Given the description of an element on the screen output the (x, y) to click on. 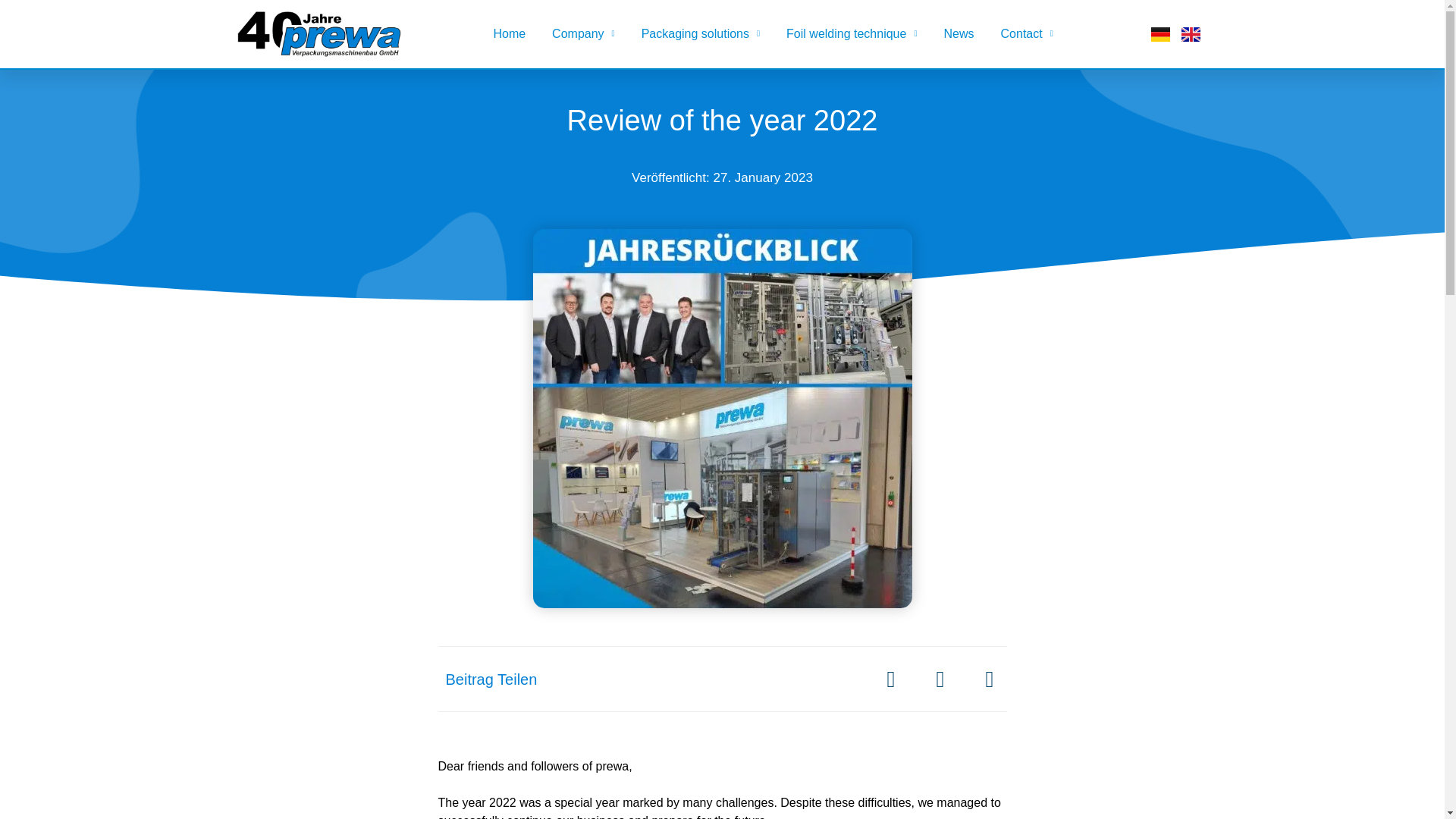
Foil welding technique (851, 33)
Packaging solutions (701, 33)
News (958, 33)
Home (509, 33)
Contact (1026, 33)
Company (582, 33)
